Given the description of an element on the screen output the (x, y) to click on. 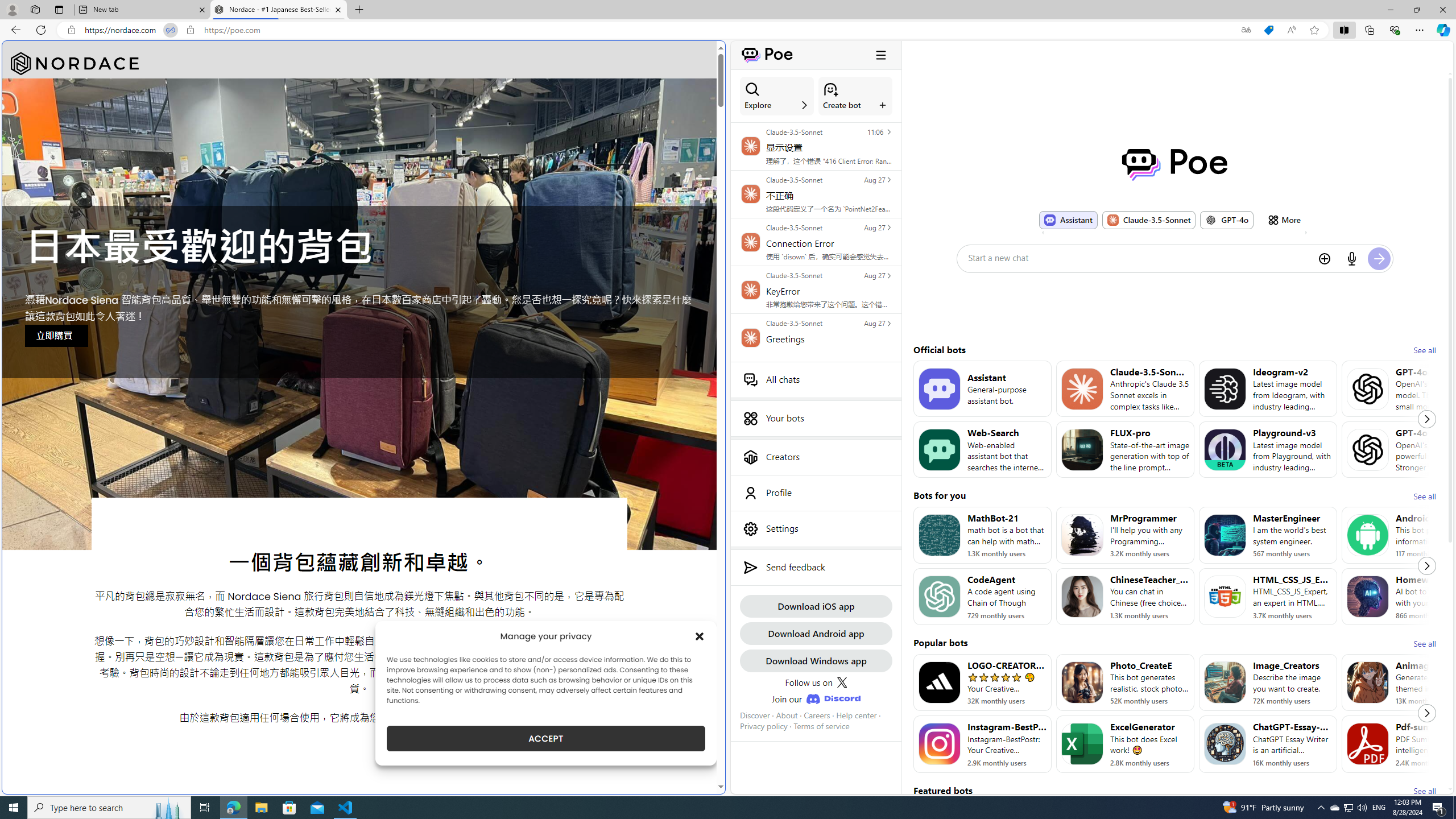
Send feedback (815, 567)
Show translate options (1245, 29)
Bot image for FLUX-pro (1081, 449)
Your bots (815, 418)
Bot image for Pdf-summarizer-64K (1367, 743)
Class: ChatHistoryListItem_chevronIcon__zJZSN (888, 322)
Bot image for ChatGPT-Essay-Writer (1224, 743)
All chats (815, 379)
Class: ToggleSidebarCollapseButton_hamburgerIcon__VuiyV (880, 55)
About (786, 714)
